Given the description of an element on the screen output the (x, y) to click on. 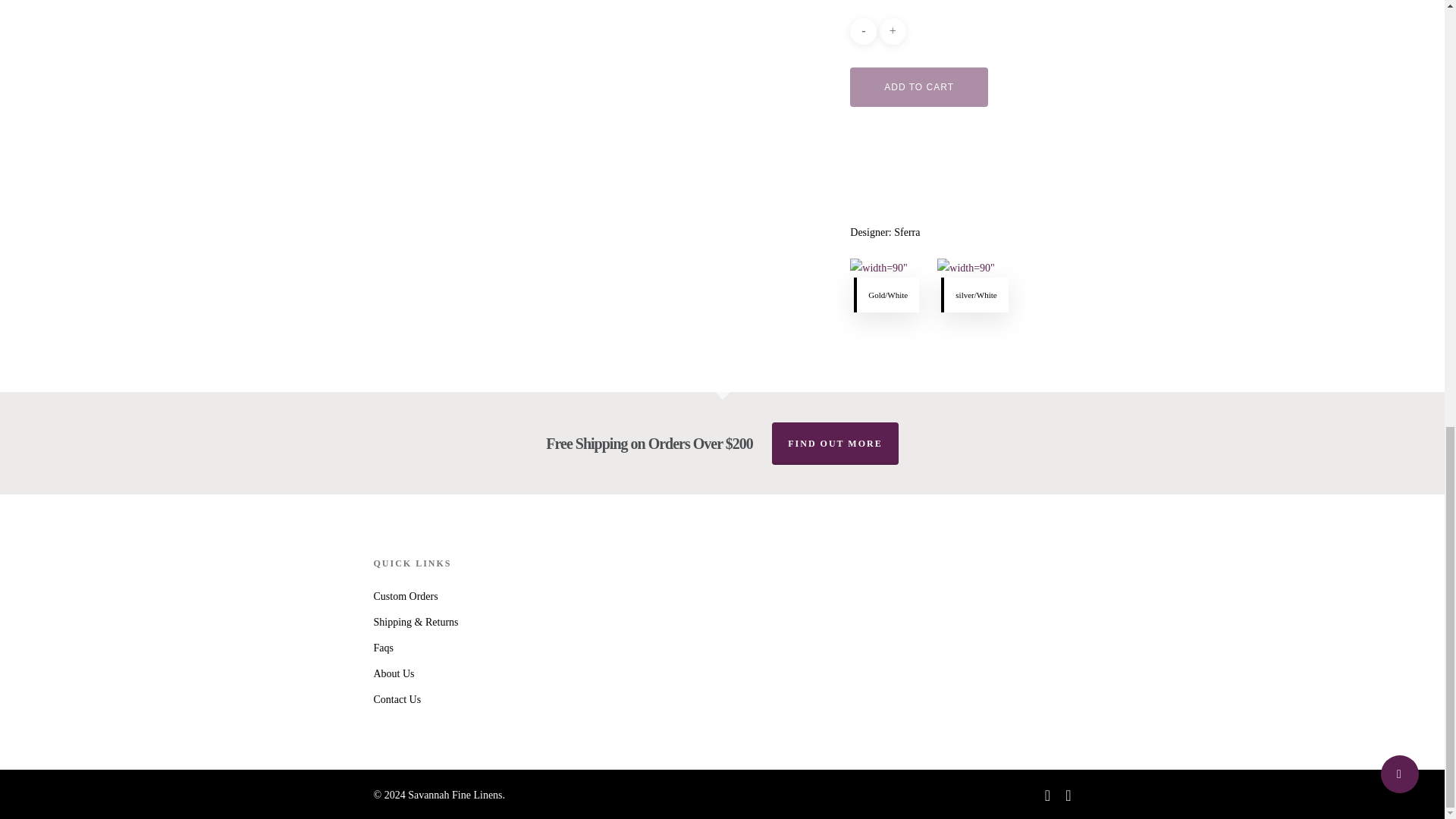
- (863, 31)
